Given the description of an element on the screen output the (x, y) to click on. 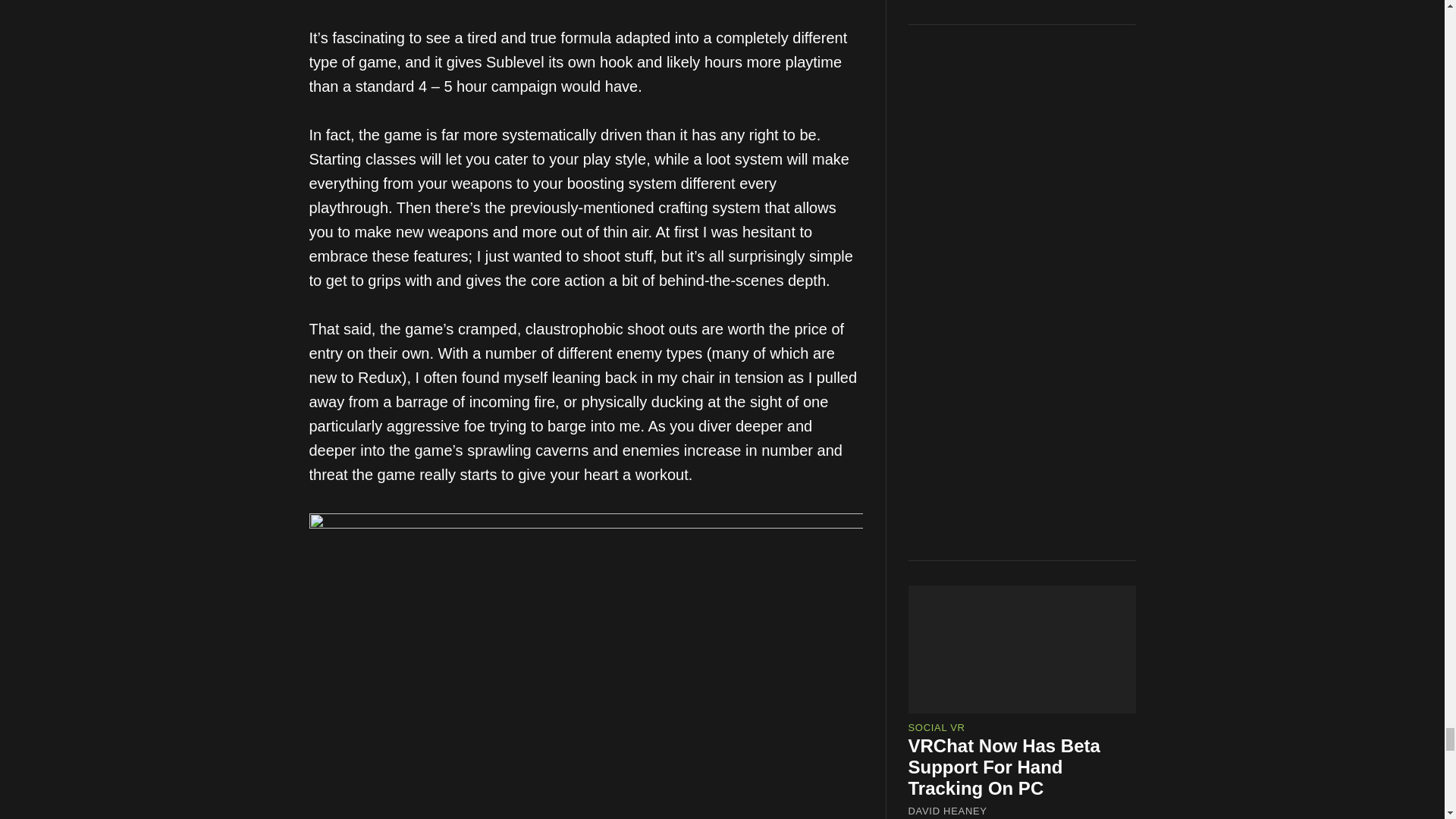
SOCIAL VR (936, 274)
DAVID HEANEY (947, 357)
VRChat Now Has Beta Support For Hand Tracking On PC (1004, 312)
SOCIAL VR (936, 570)
Inside The World Of Virtual Photography (994, 598)
K. GUILLORY (941, 633)
